Given the description of an element on the screen output the (x, y) to click on. 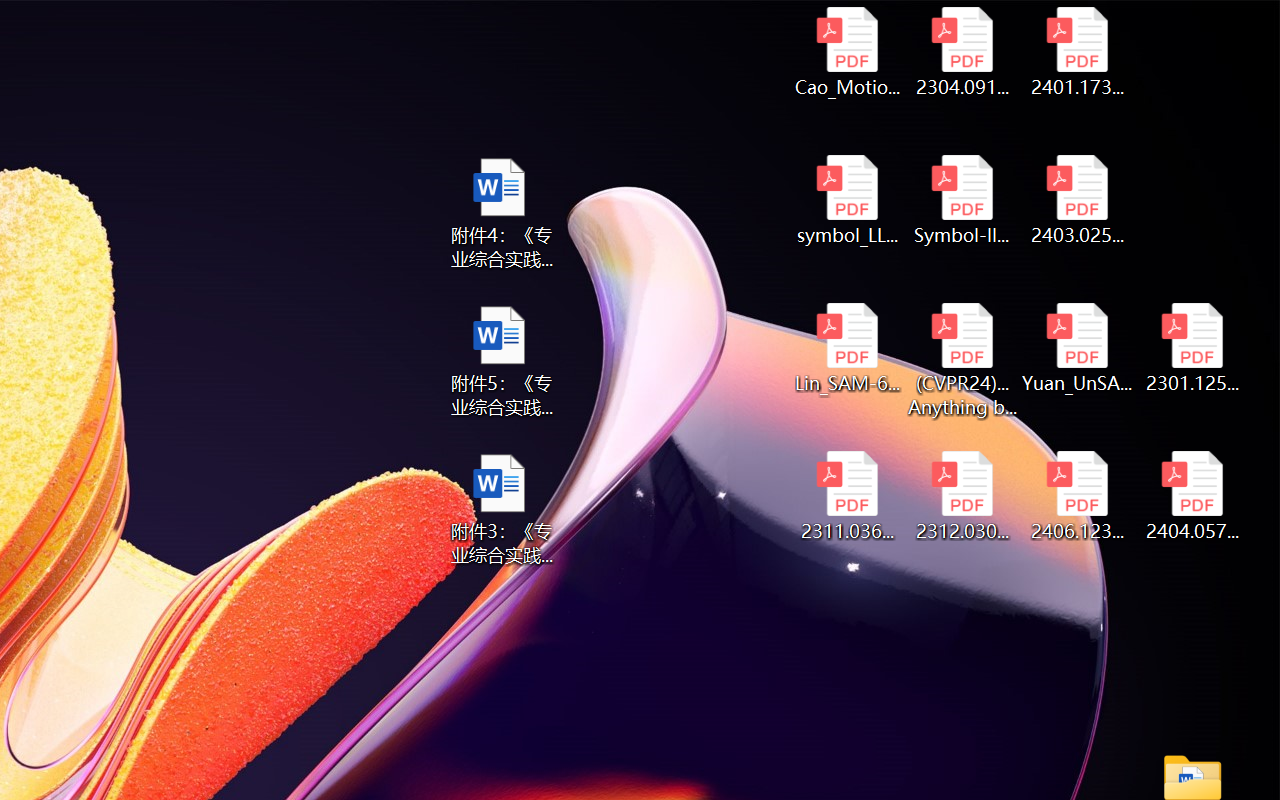
2404.05719v1.pdf (1192, 496)
symbol_LLM.pdf (846, 200)
2301.12597v3.pdf (1192, 348)
2403.02502v1.pdf (1077, 200)
2406.12373v2.pdf (1077, 496)
2312.03032v2.pdf (962, 496)
(CVPR24)Matching Anything by Segmenting Anything.pdf (962, 360)
Symbol-llm-v2.pdf (962, 200)
2304.09121v3.pdf (962, 52)
2311.03658v2.pdf (846, 496)
